Given the description of an element on the screen output the (x, y) to click on. 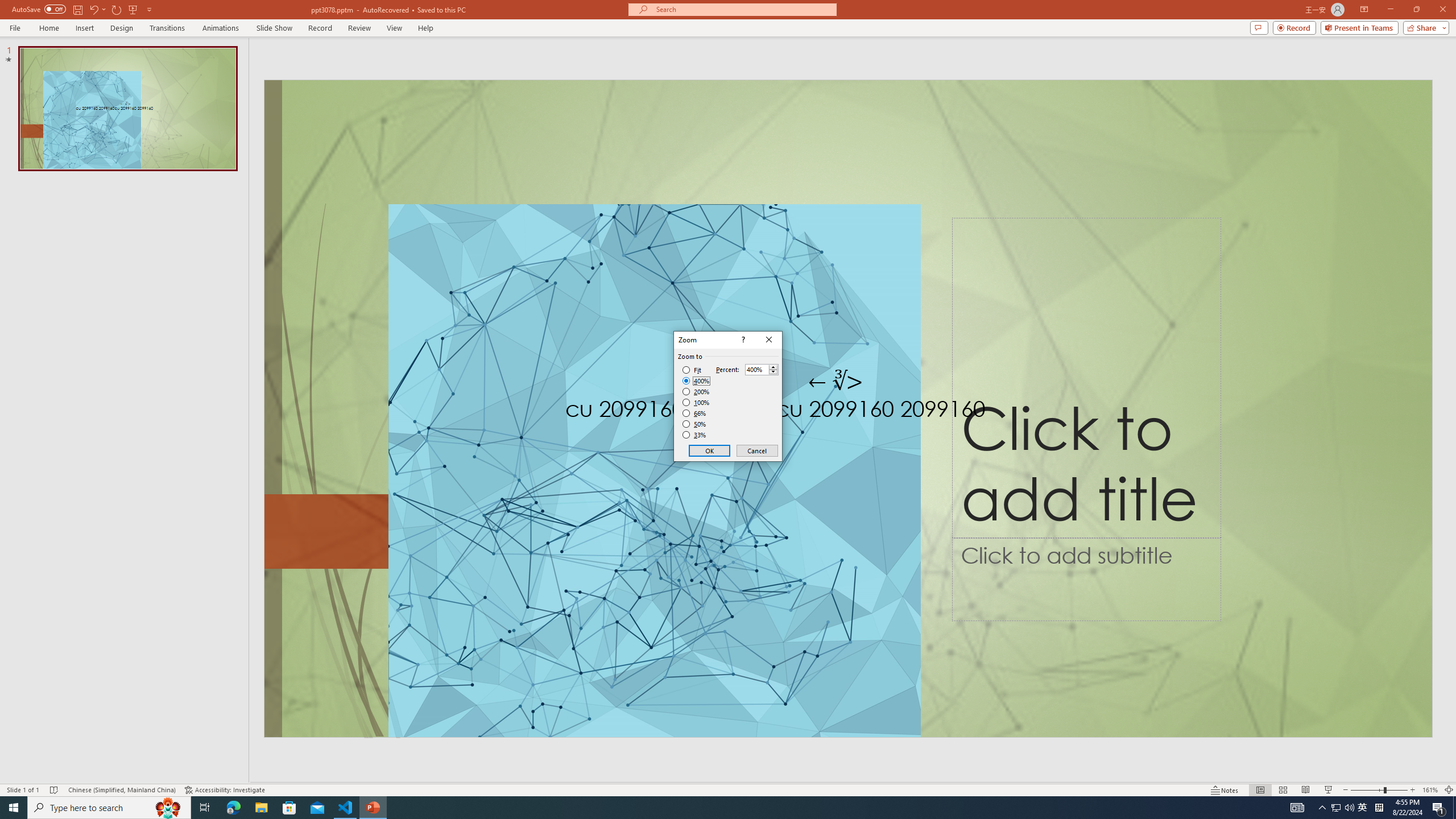
Percent (756, 369)
66% (694, 412)
200% (696, 391)
